Given the description of an element on the screen output the (x, y) to click on. 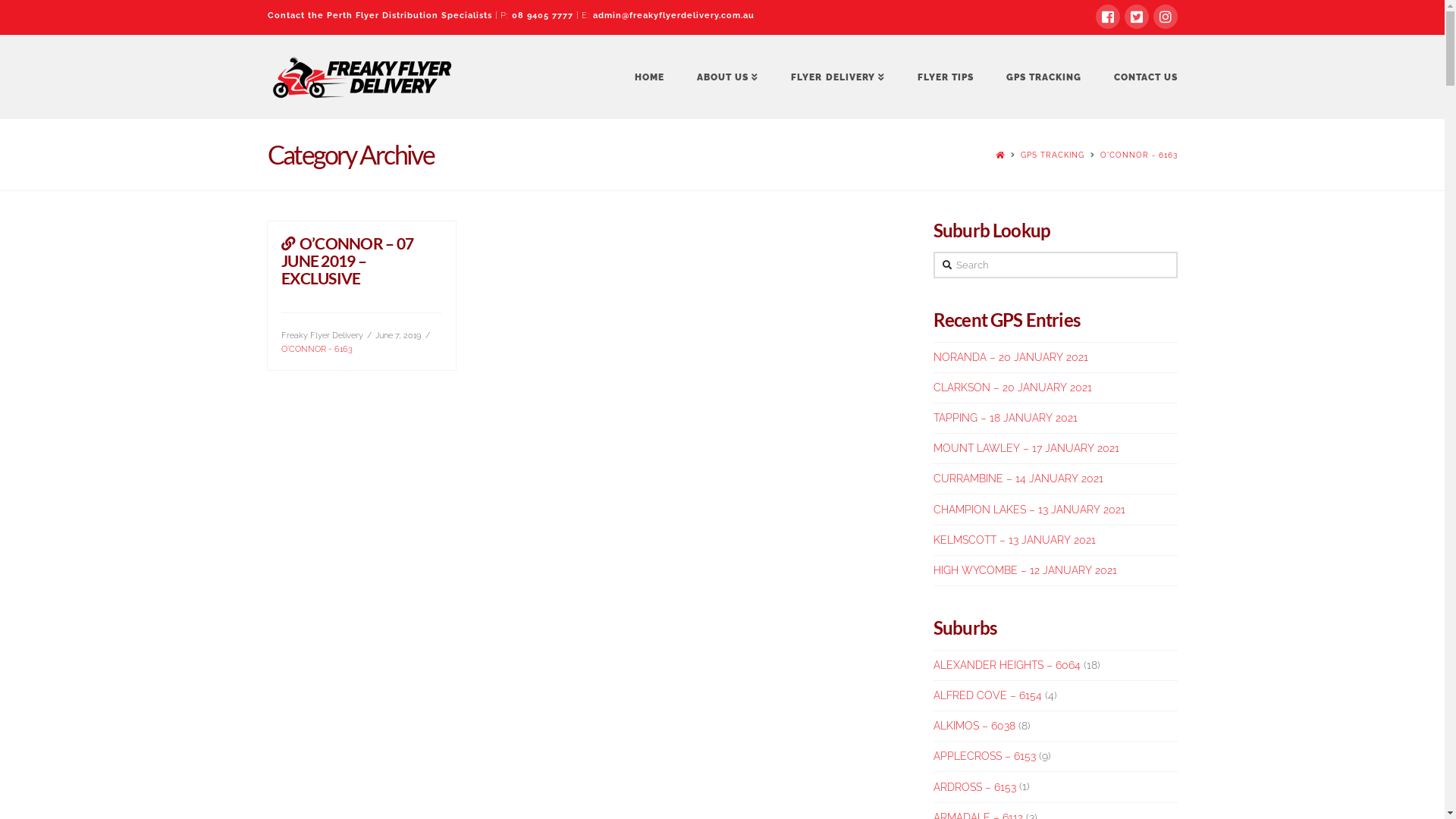
O'CONNOR - 6163 Element type: text (316, 348)
GPS TRACKING Element type: text (1043, 76)
GPS TRACKING Element type: text (1052, 155)
08 9405 7777 Element type: text (541, 15)
Twitter Element type: hover (1135, 16)
ABOUT US Element type: text (727, 76)
CONTACT US Element type: text (1136, 76)
HOME Element type: text (649, 76)
admin@freakyflyerdelivery.com.au Element type: text (673, 15)
Instagram Element type: hover (1164, 16)
Facebook Element type: hover (1107, 16)
FLYER DELIVERY Element type: text (837, 76)
O'CONNOR - 6163 Element type: text (1137, 155)
FLYER TIPS Element type: text (944, 76)
